Given the description of an element on the screen output the (x, y) to click on. 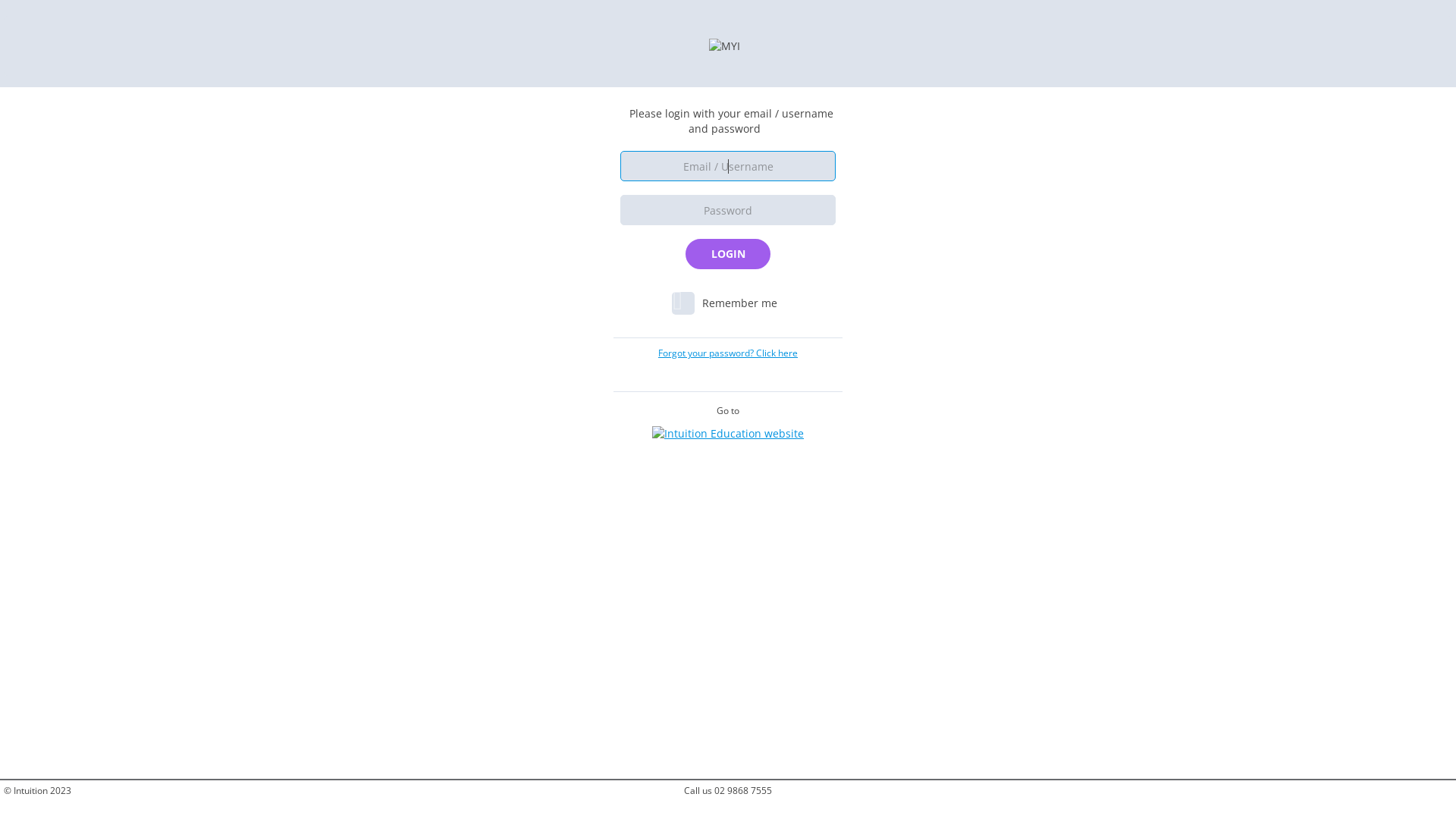
Forgot your password? Click here Element type: text (727, 352)
02 9868 7555 Element type: text (742, 790)
LOGIN Element type: text (727, 253)
